Given the description of an element on the screen output the (x, y) to click on. 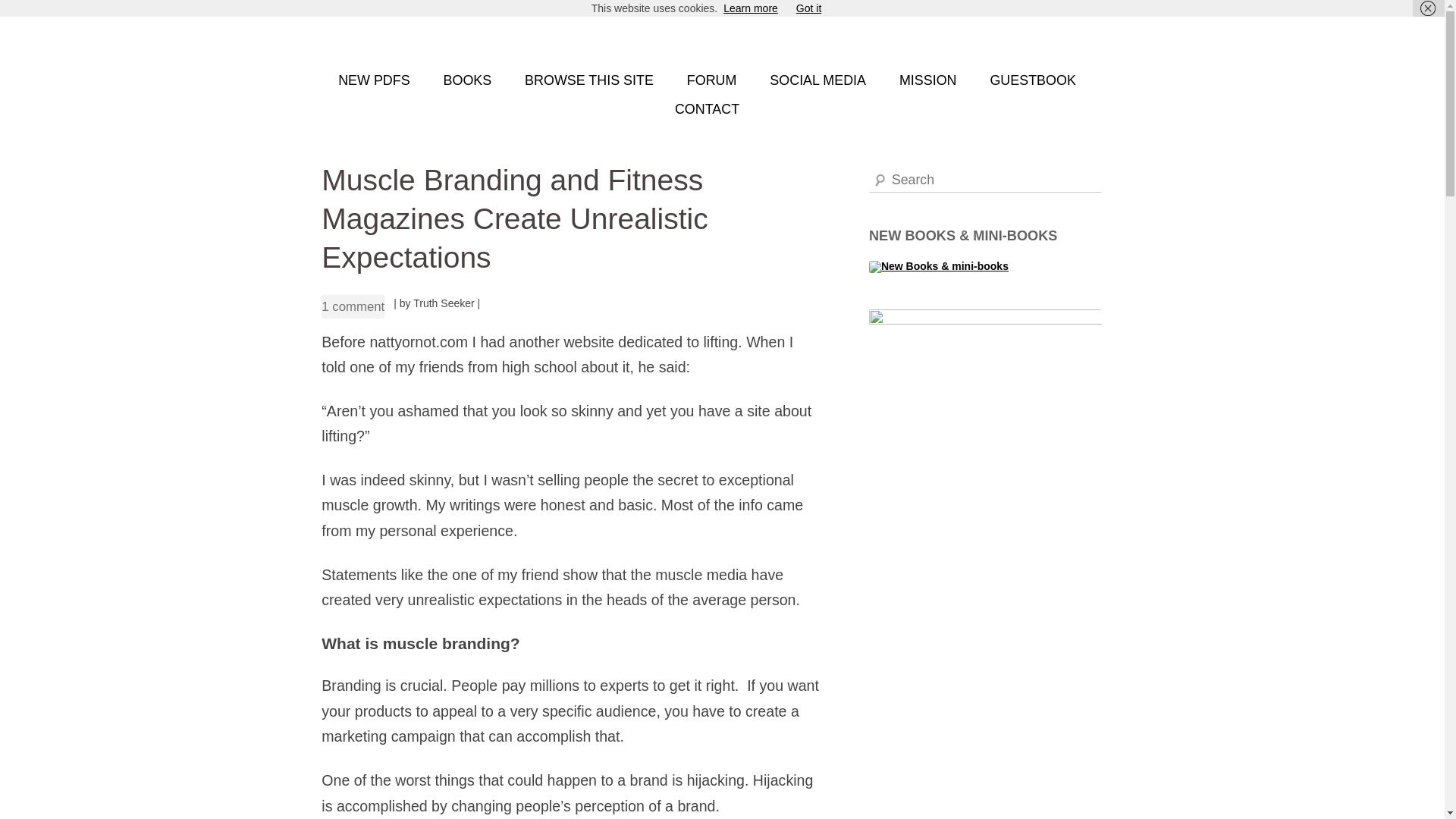
BROWSE THIS SITE (588, 80)
CONTACT (707, 109)
NEW PDFS (373, 80)
1 comment (352, 306)
NattyOrNot.com (396, 36)
Search for: (985, 180)
GUESTBOOK (1032, 80)
SOCIAL MEDIA (818, 80)
BOOKS (468, 80)
FORUM (711, 80)
MISSION (927, 80)
NattyOrNot.com (396, 36)
